Given the description of an element on the screen output the (x, y) to click on. 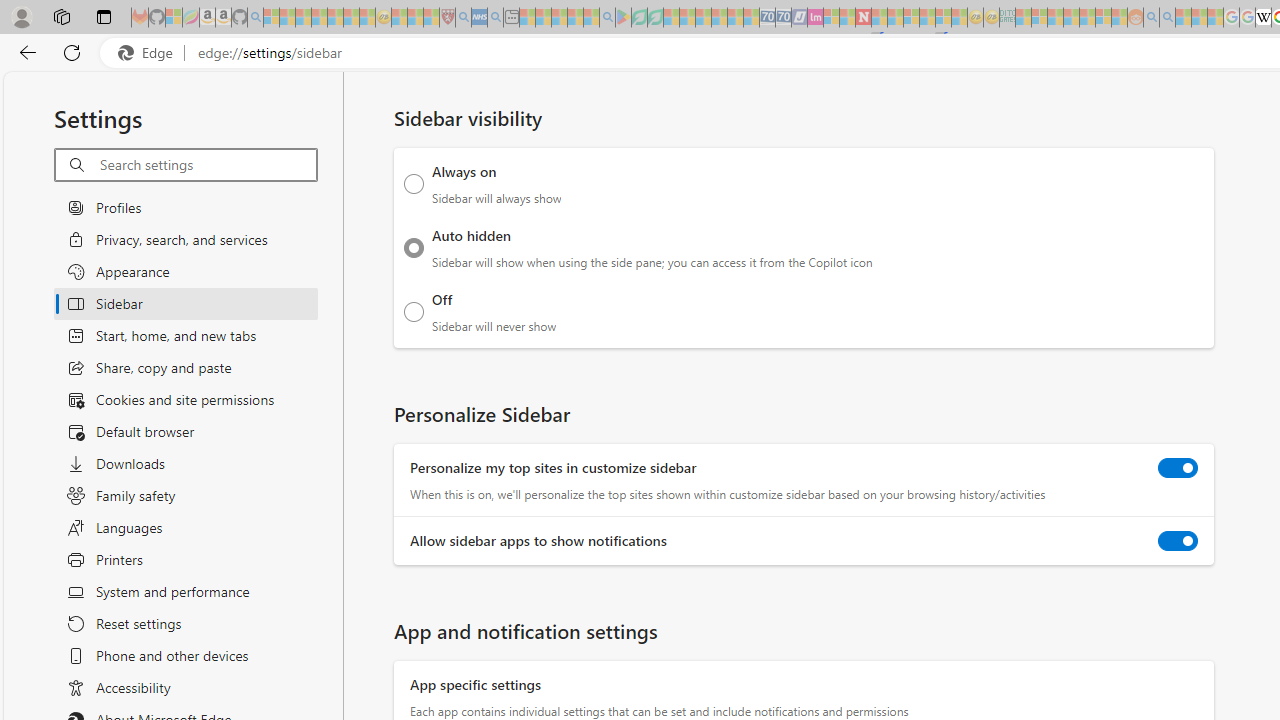
Edge (150, 53)
